Given the description of an element on the screen output the (x, y) to click on. 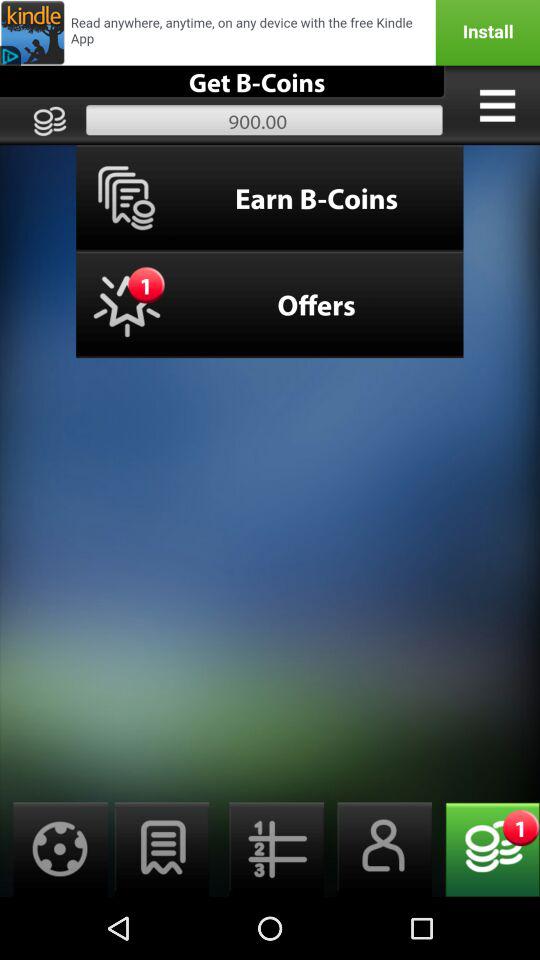
open settings (54, 849)
